Given the description of an element on the screen output the (x, y) to click on. 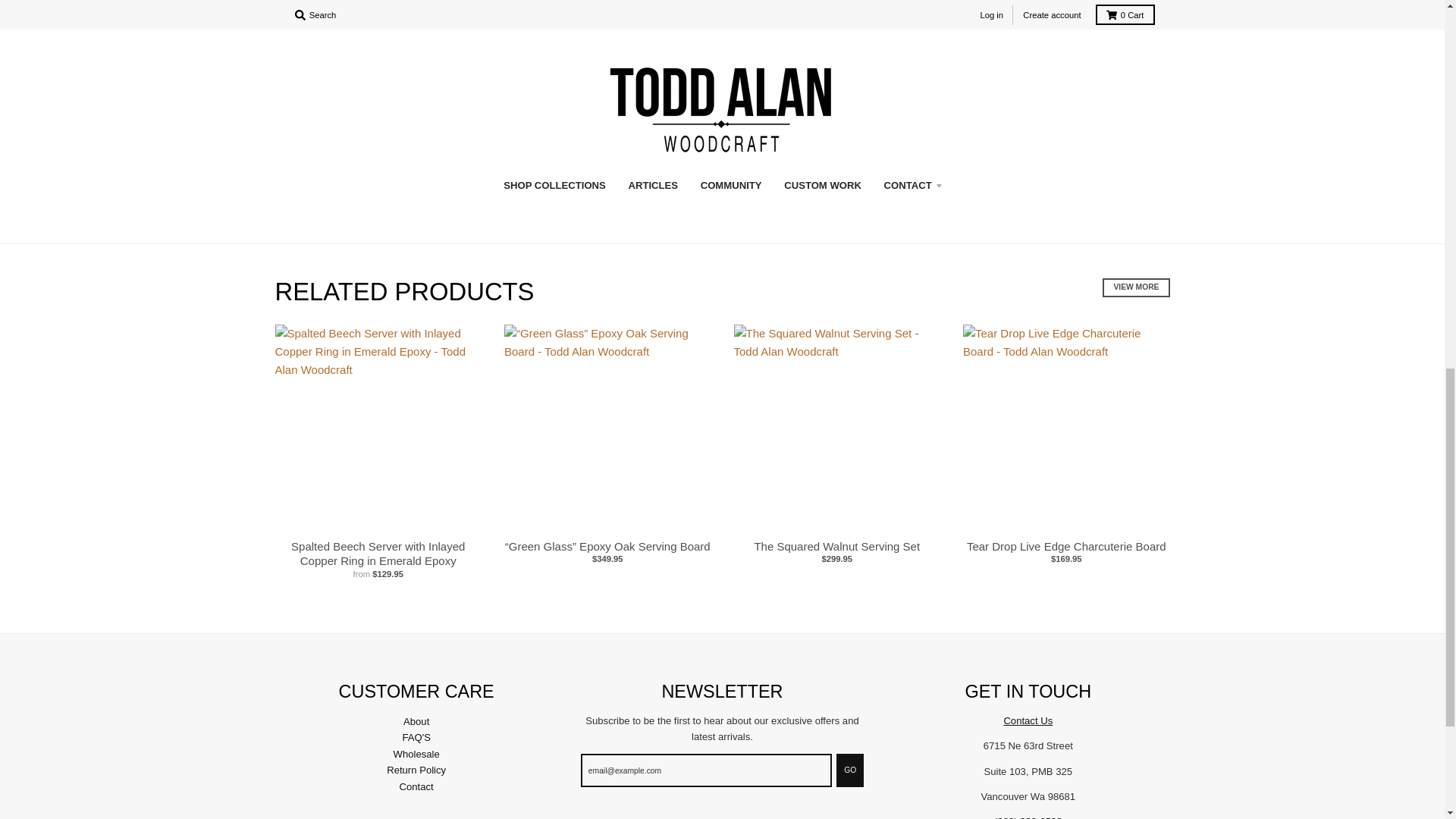
Call via Hangouts (1028, 817)
